Given the description of an element on the screen output the (x, y) to click on. 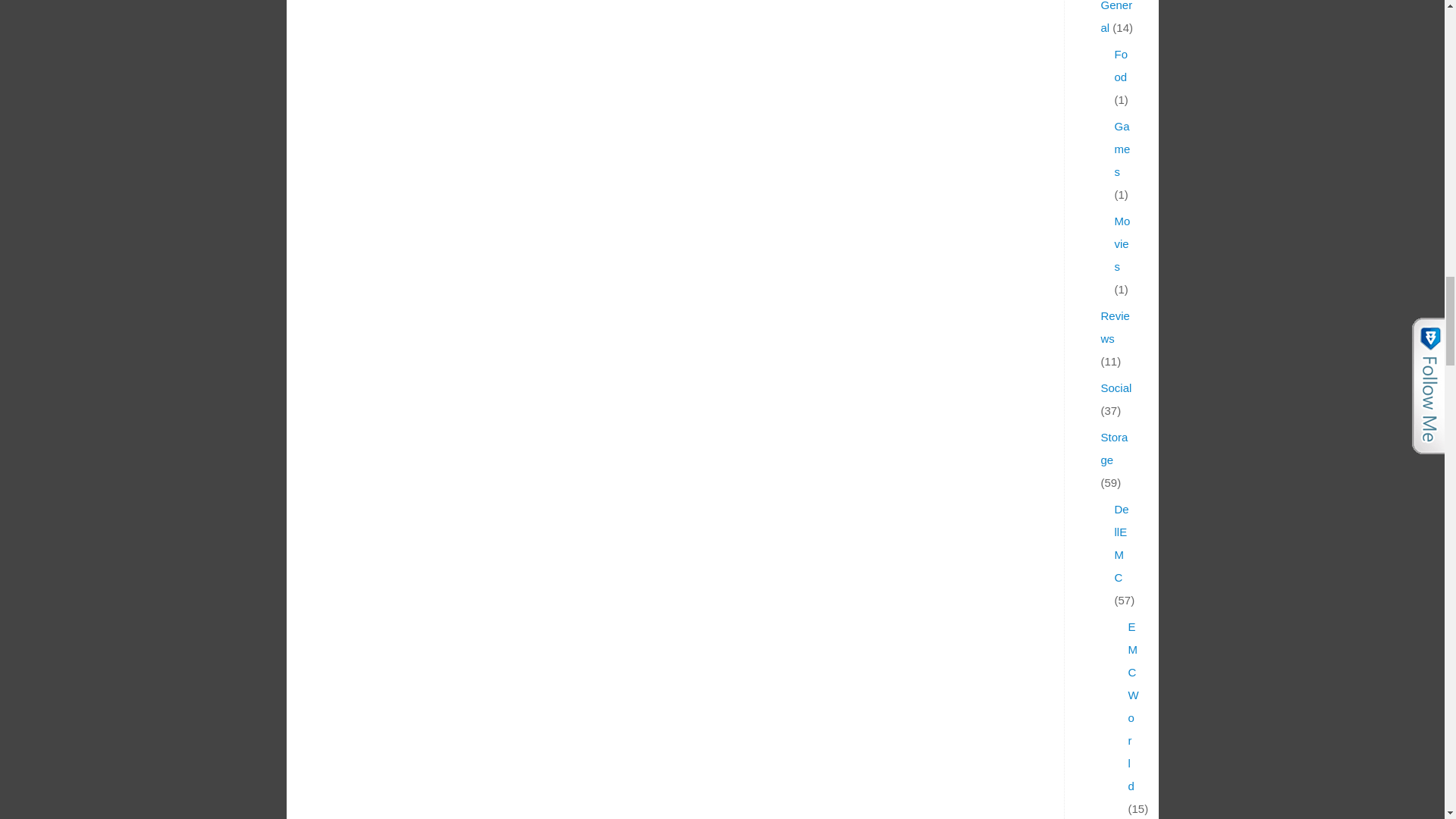
General (1116, 17)
Social (1116, 387)
